Given the description of an element on the screen output the (x, y) to click on. 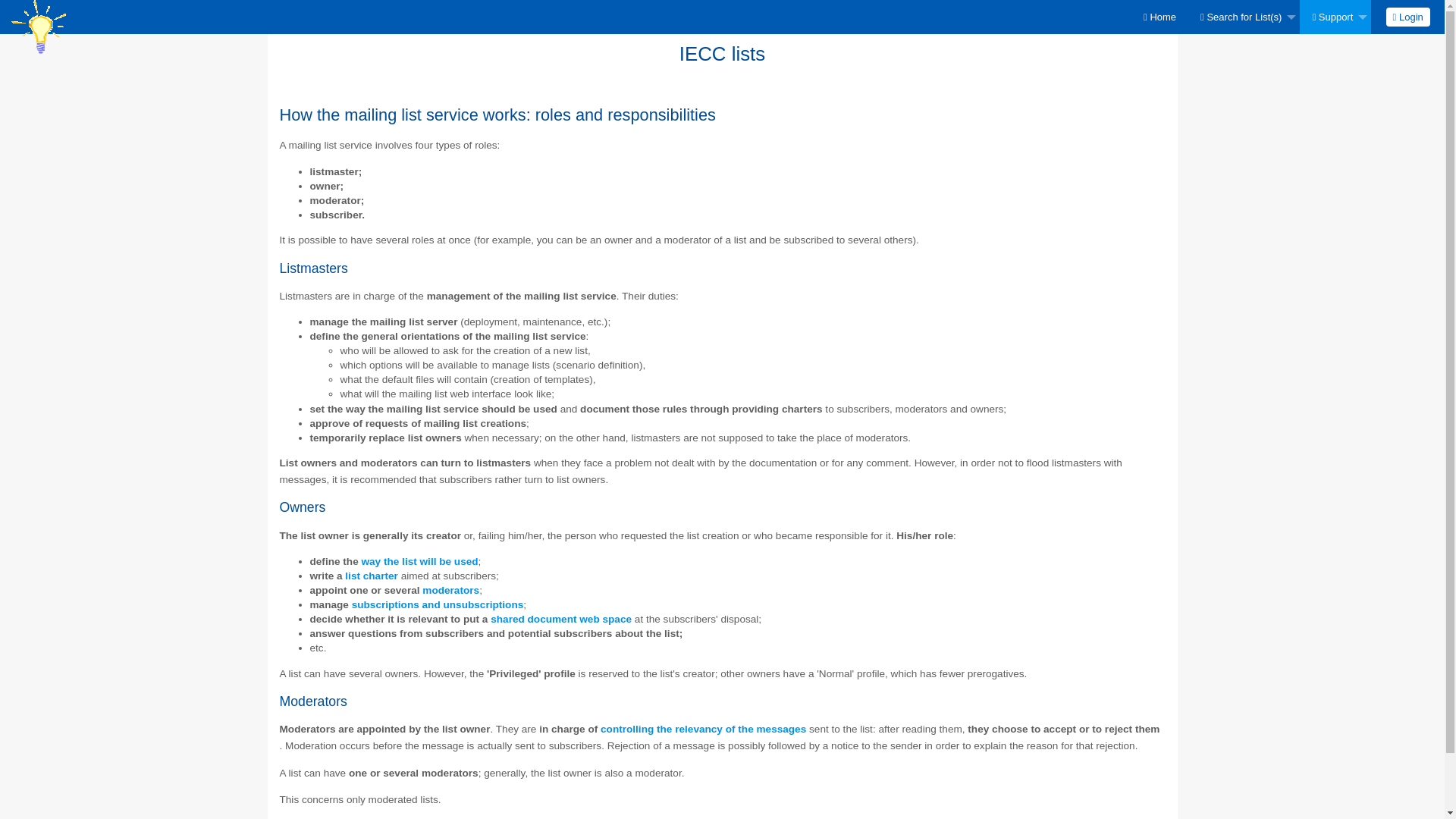
list charter (371, 575)
Home (1159, 17)
Login (1407, 16)
Support (1335, 17)
moderators (450, 590)
way the list will be used (419, 561)
shared document web space (560, 618)
subscriptions and unsubscriptions (438, 604)
controlling the relevancy of the messages (702, 728)
